Given the description of an element on the screen output the (x, y) to click on. 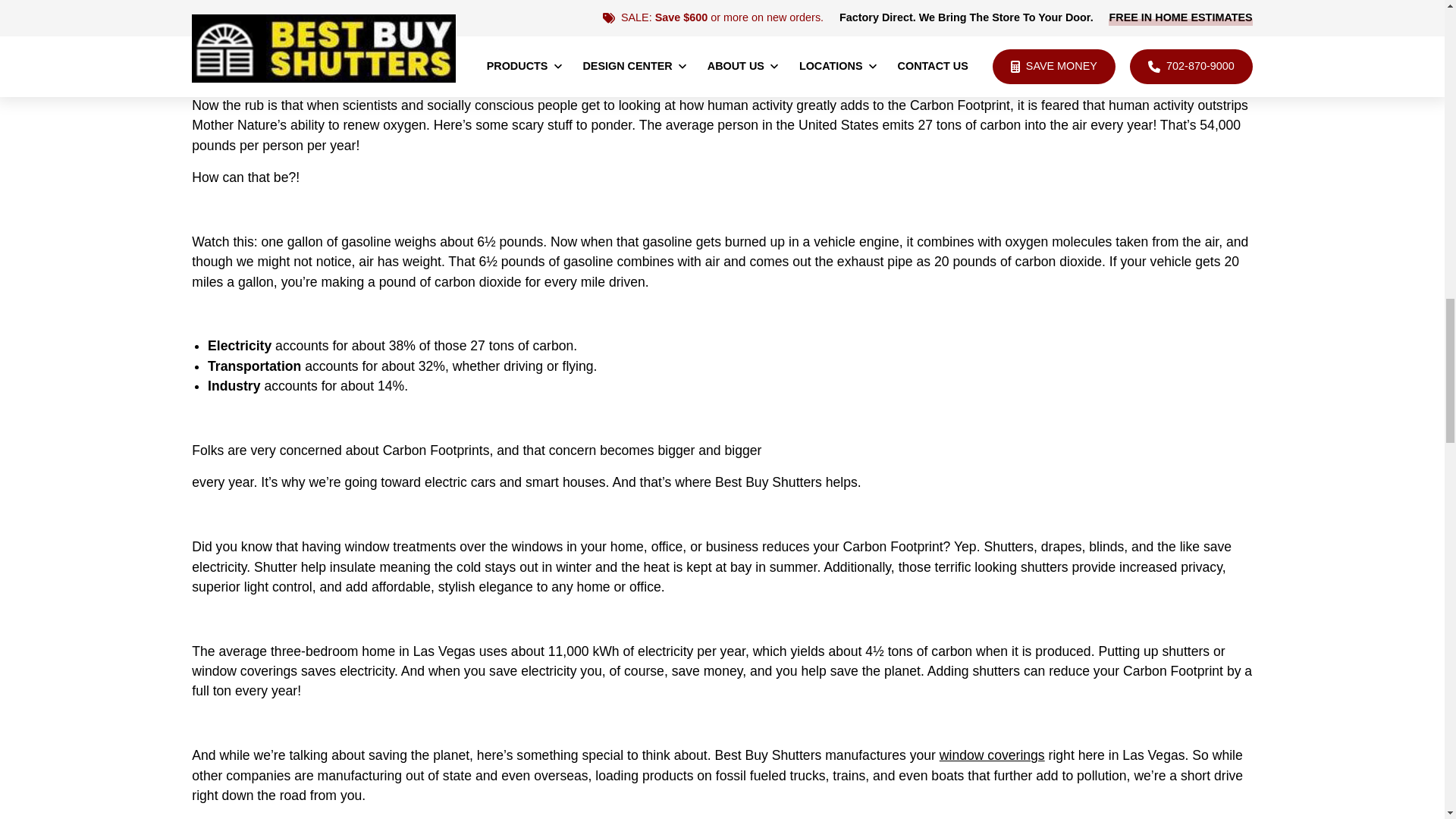
window coverings (992, 754)
